Given the description of an element on the screen output the (x, y) to click on. 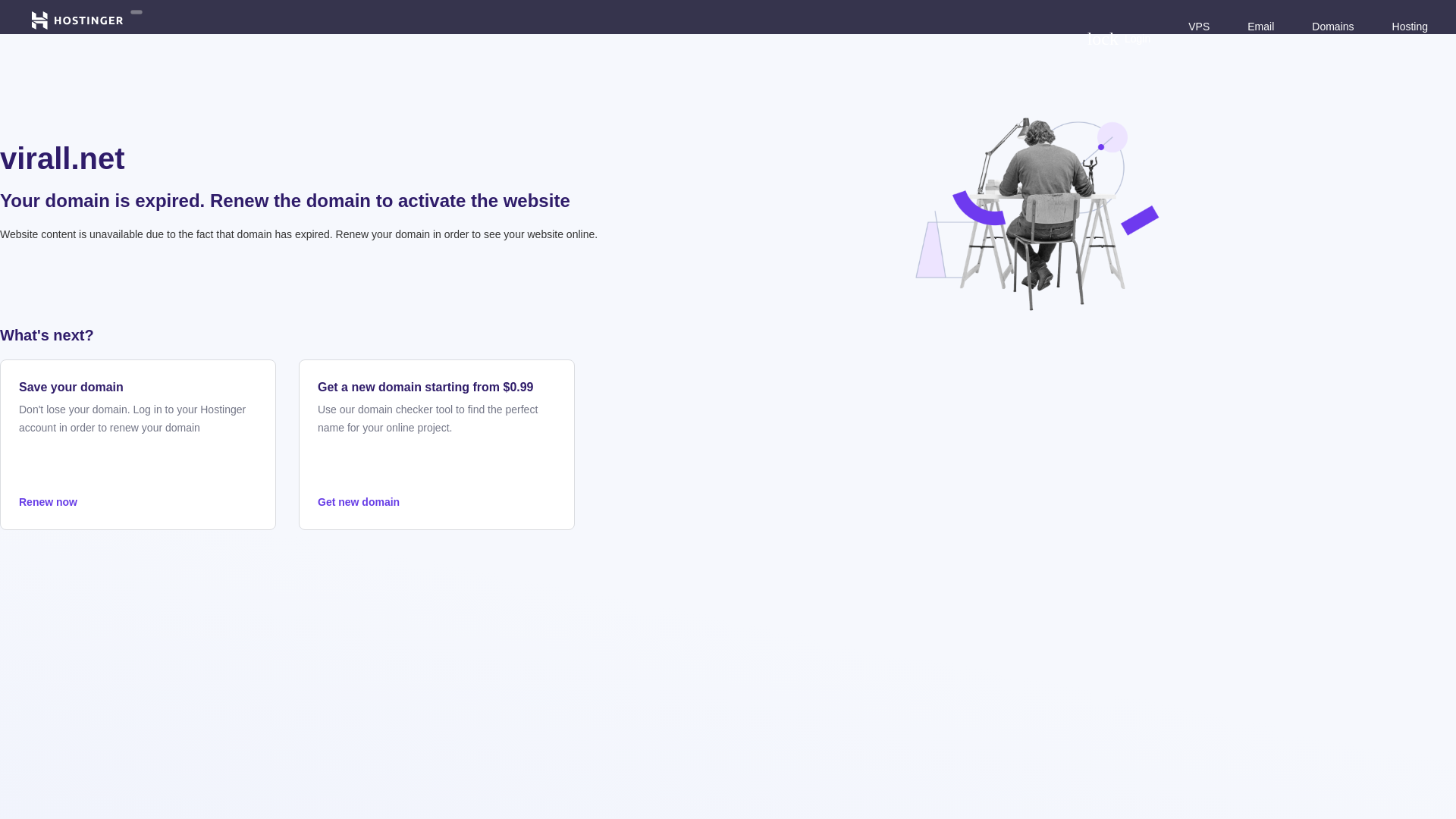
Renew now (137, 502)
Hosting (1410, 25)
Get new domain (436, 502)
Domains (1331, 25)
